Given the description of an element on the screen output the (x, y) to click on. 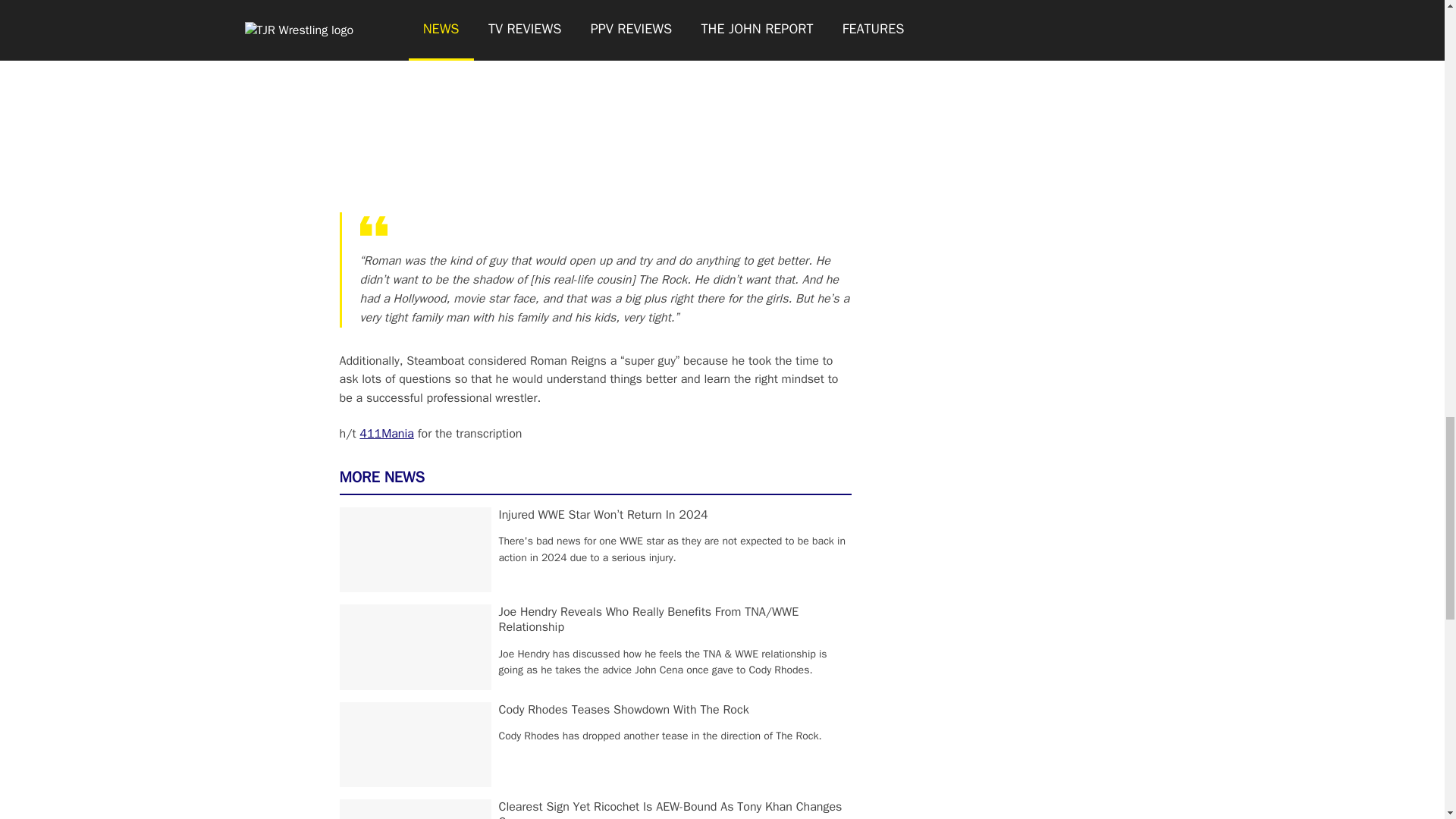
411Mania (386, 433)
Cody Rhodes Teases Showdown With The Rock (624, 709)
